Given the description of an element on the screen output the (x, y) to click on. 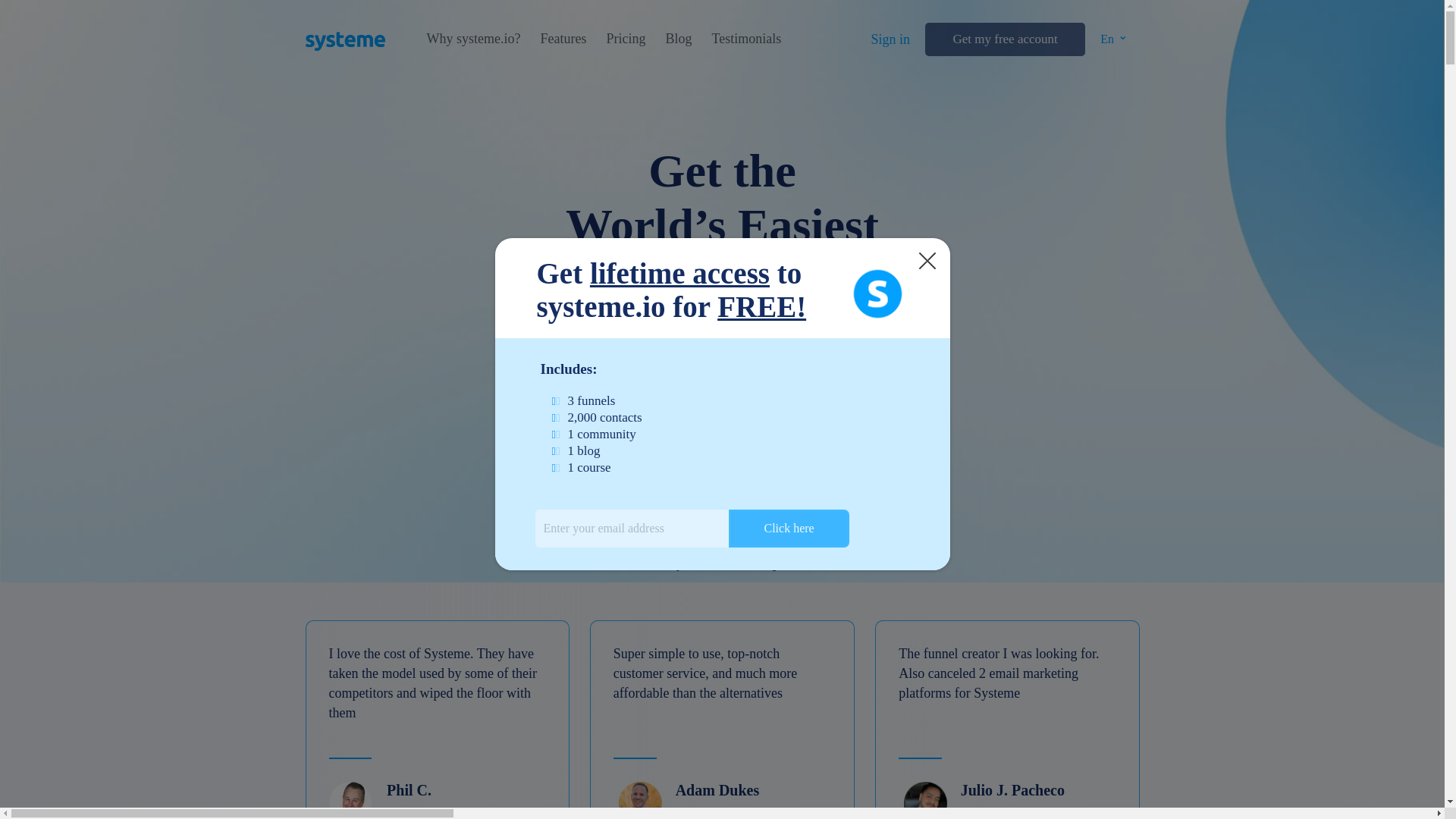
Testimonials (745, 38)
Sign in (890, 39)
Blog (678, 38)
Why systeme.io? (472, 38)
Features (563, 38)
Pricing (625, 38)
Get my free account (1004, 39)
